Given the description of an element on the screen output the (x, y) to click on. 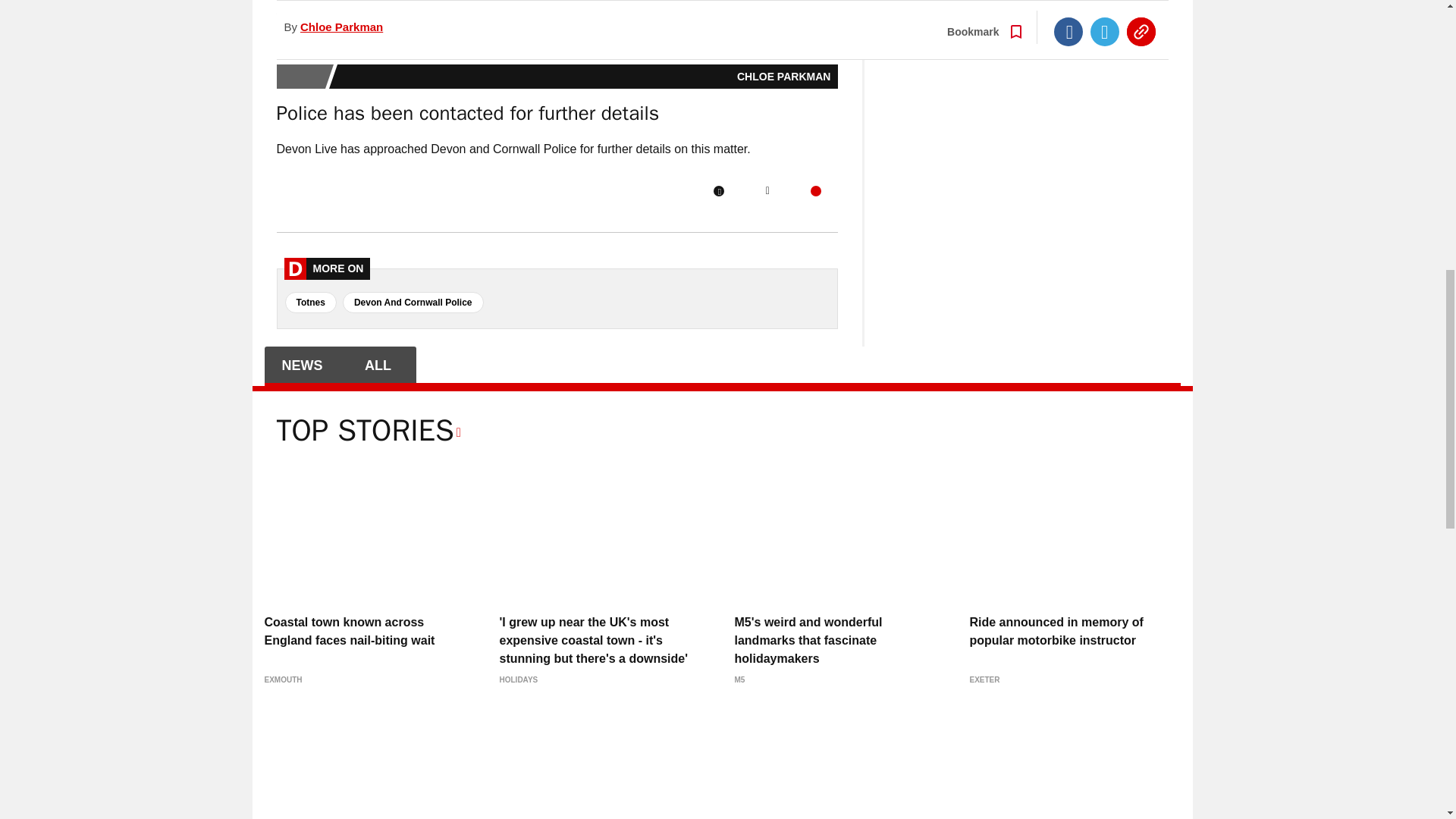
Twitter (767, 190)
Facebook (718, 190)
